Given the description of an element on the screen output the (x, y) to click on. 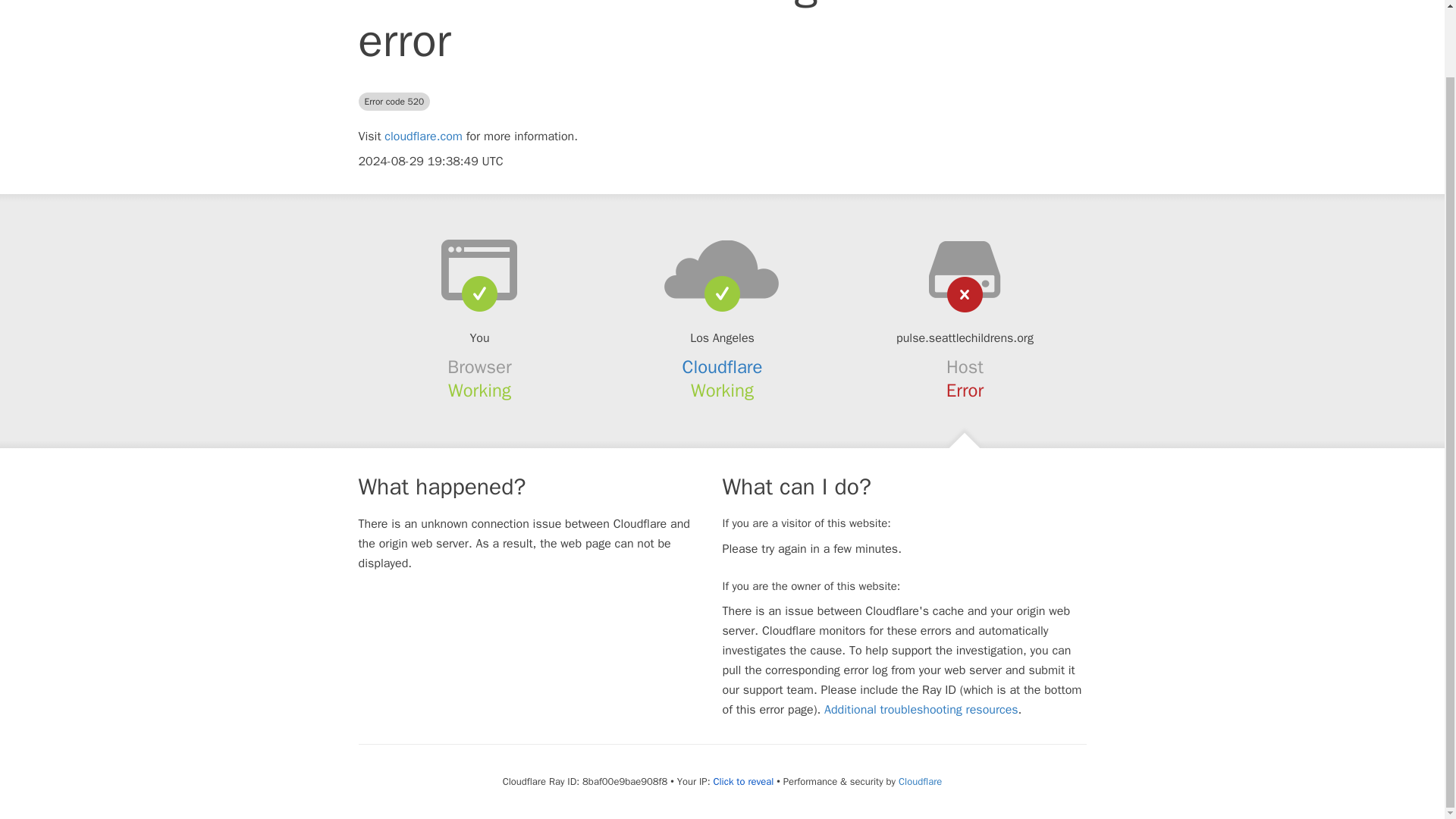
Cloudflare (722, 366)
Click to reveal (743, 781)
Additional troubleshooting resources (920, 709)
cloudflare.com (423, 136)
Cloudflare (920, 780)
